Given the description of an element on the screen output the (x, y) to click on. 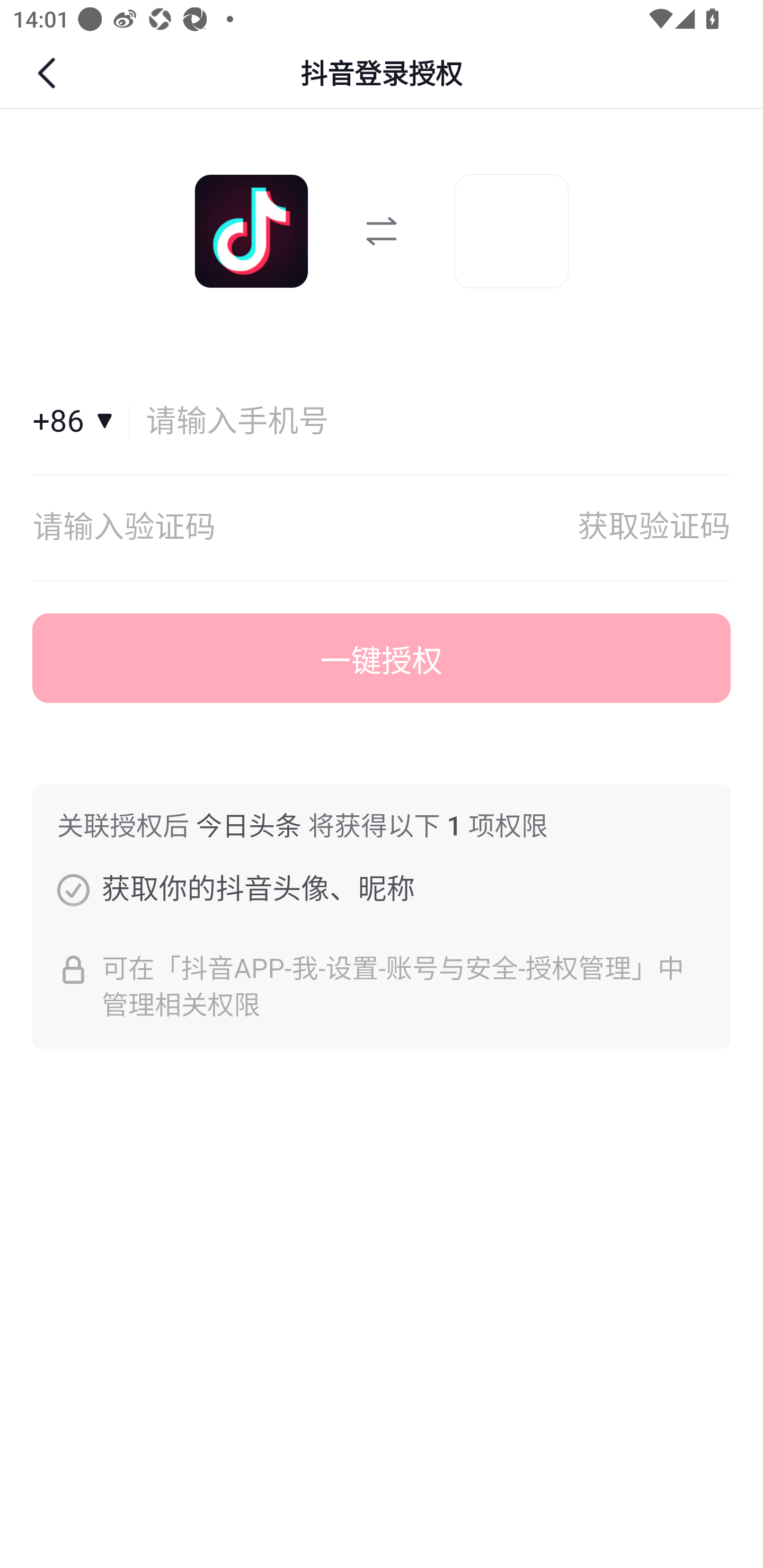
返回 (49, 72)
国家和地区+86 (81, 421)
获取验证码 (653, 527)
一键授权 (381, 658)
获取你的抖音头像、昵称 (72, 889)
